Given the description of an element on the screen output the (x, y) to click on. 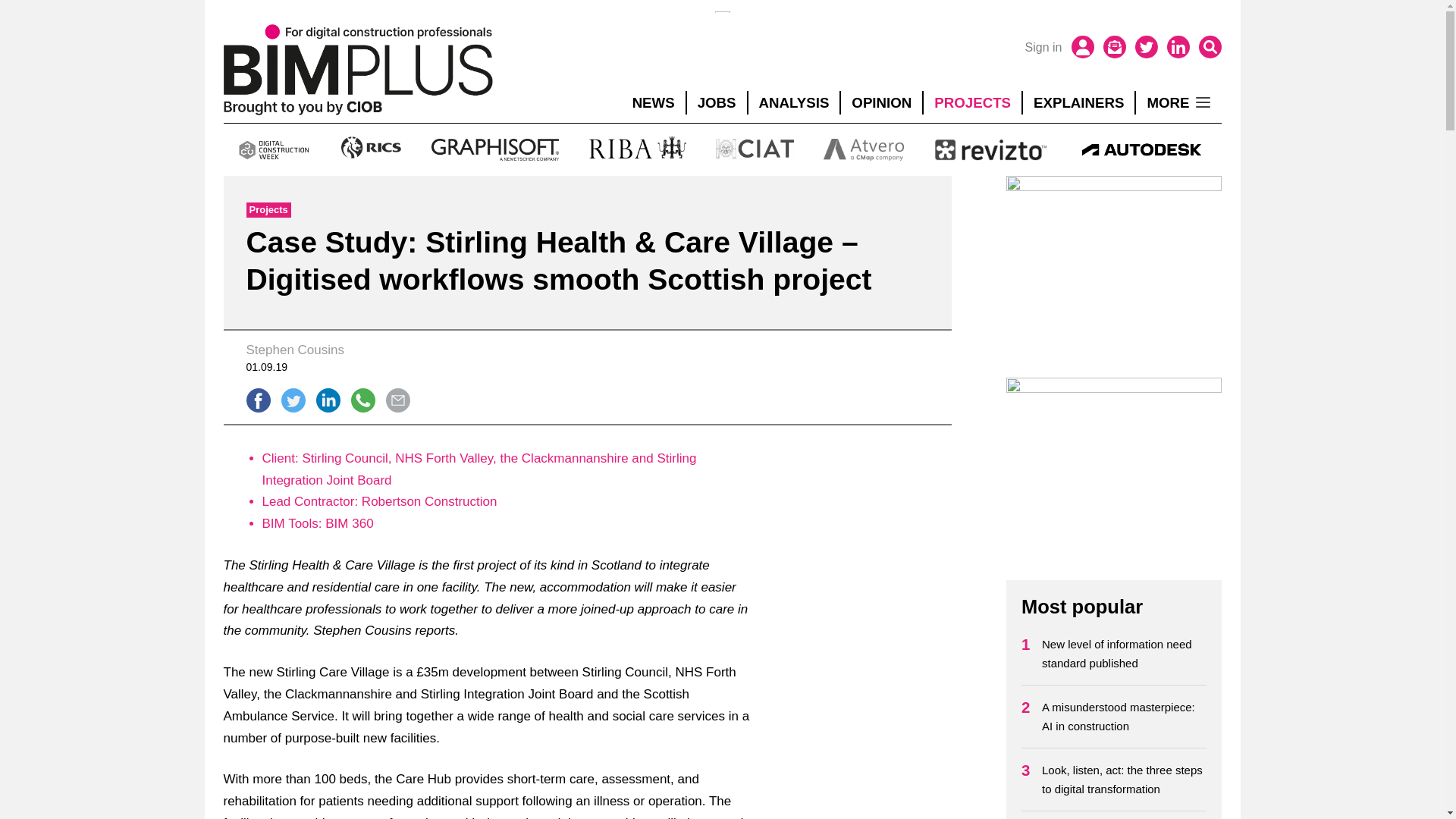
JOBS (716, 102)
OPINION (881, 102)
Sign in (1043, 47)
Share on WhatsApp (362, 400)
Share on LinkedIn (327, 400)
Share on Facebook (257, 400)
EXPLAINERS (1078, 102)
MORE (1178, 102)
PROJECTS (972, 102)
ANALYSIS (794, 102)
Send email (397, 400)
Tweet (292, 400)
NEWS (653, 102)
